Given the description of an element on the screen output the (x, y) to click on. 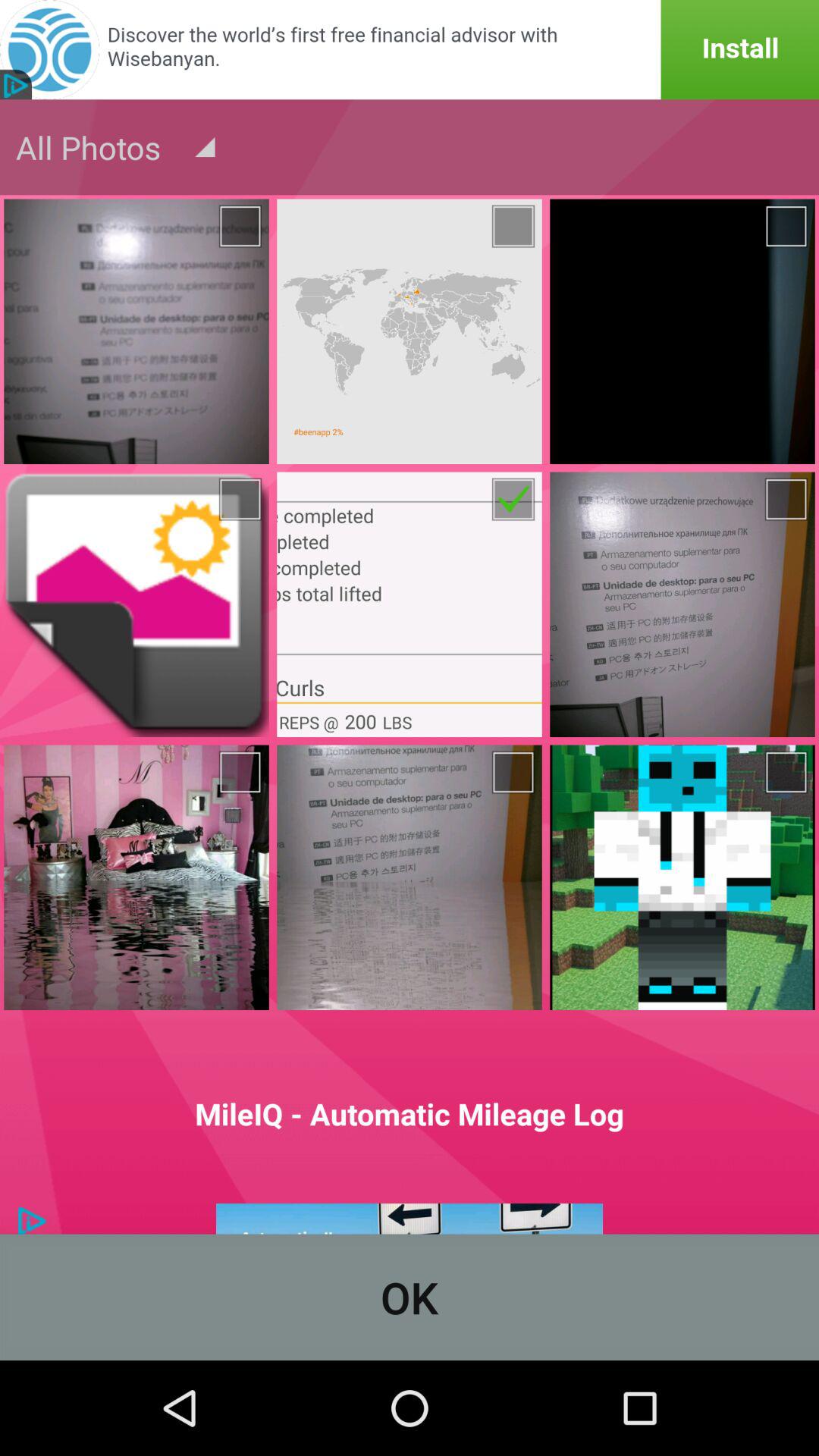
advertisement link (409, 49)
